Given the description of an element on the screen output the (x, y) to click on. 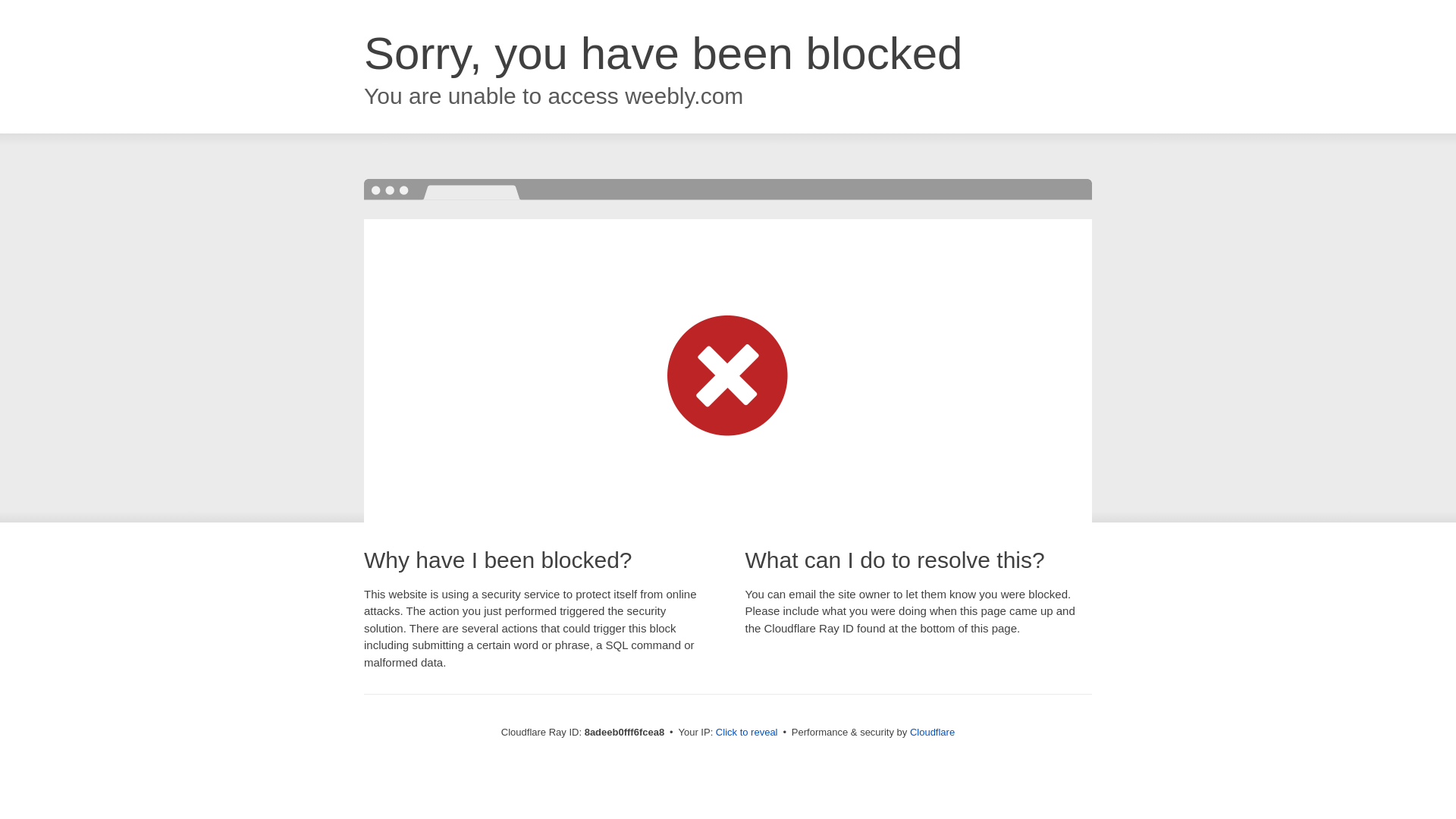
Cloudflare (932, 731)
Click to reveal (746, 732)
